Given the description of an element on the screen output the (x, y) to click on. 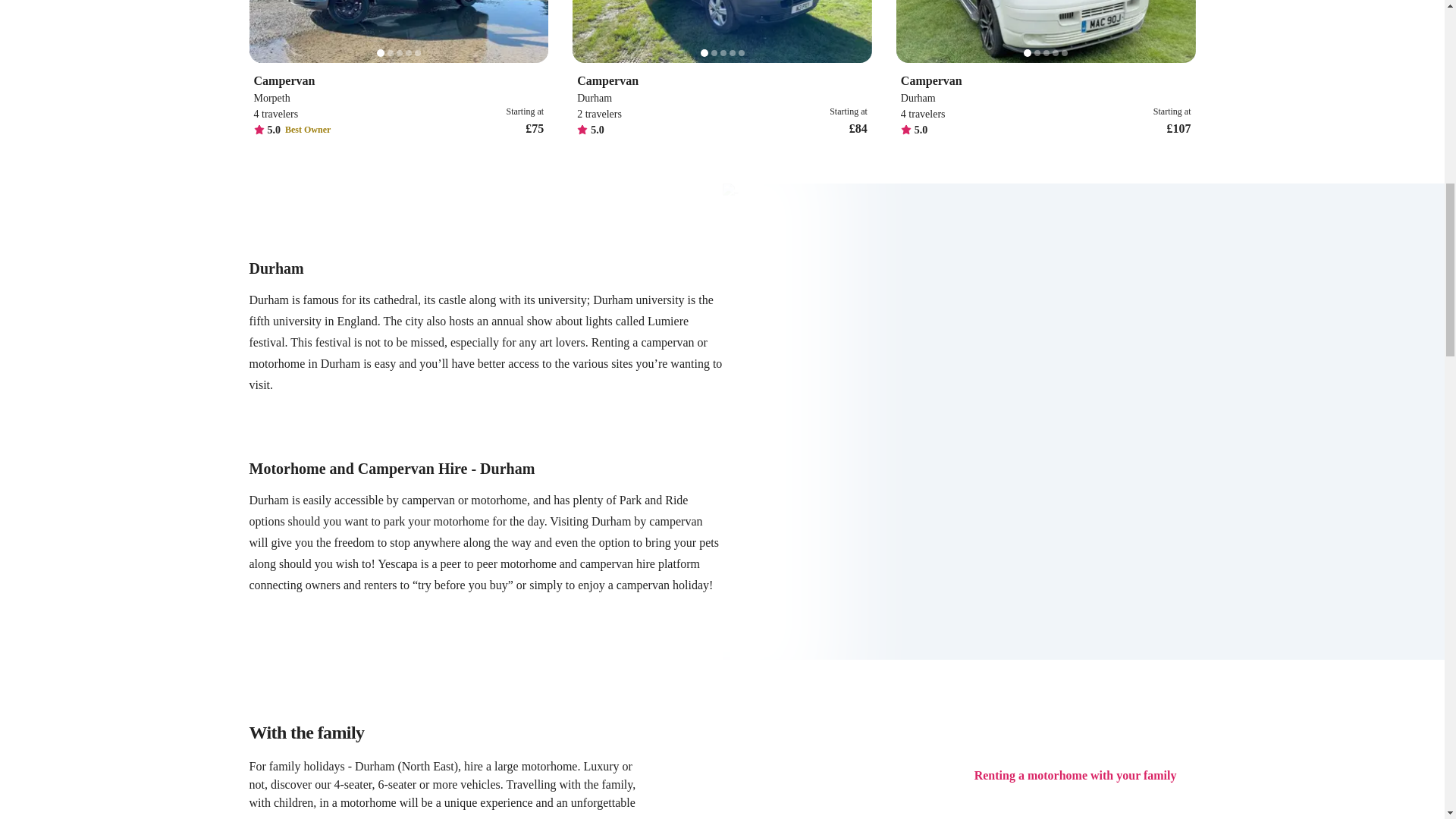
Campervan (1046, 81)
Campervan (721, 81)
Campervan (398, 81)
Renting a motorhome with your family (1075, 775)
